Given the description of an element on the screen output the (x, y) to click on. 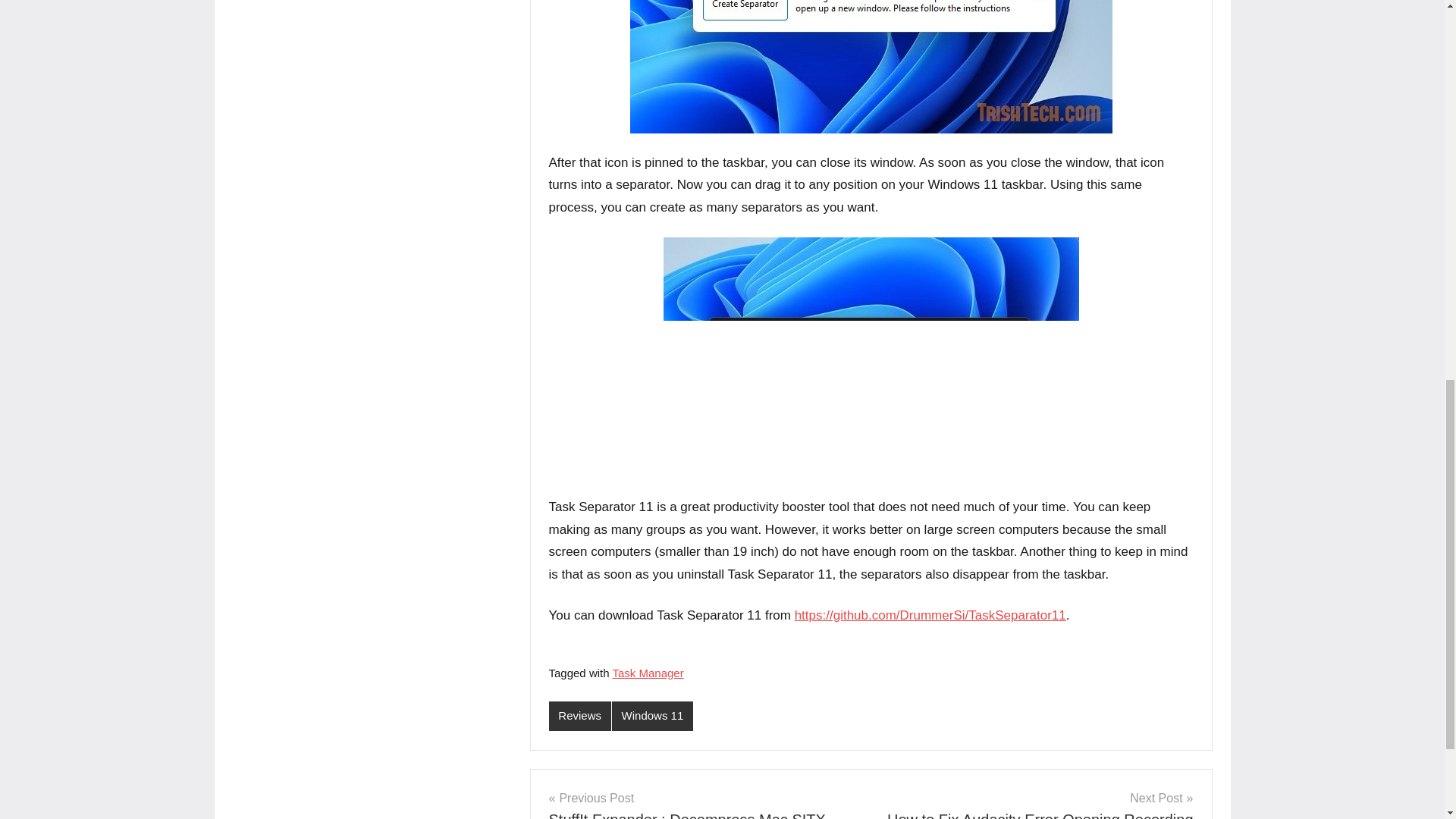
Reviews (579, 716)
Windows 11 (652, 716)
Task Manager (1037, 803)
